Given the description of an element on the screen output the (x, y) to click on. 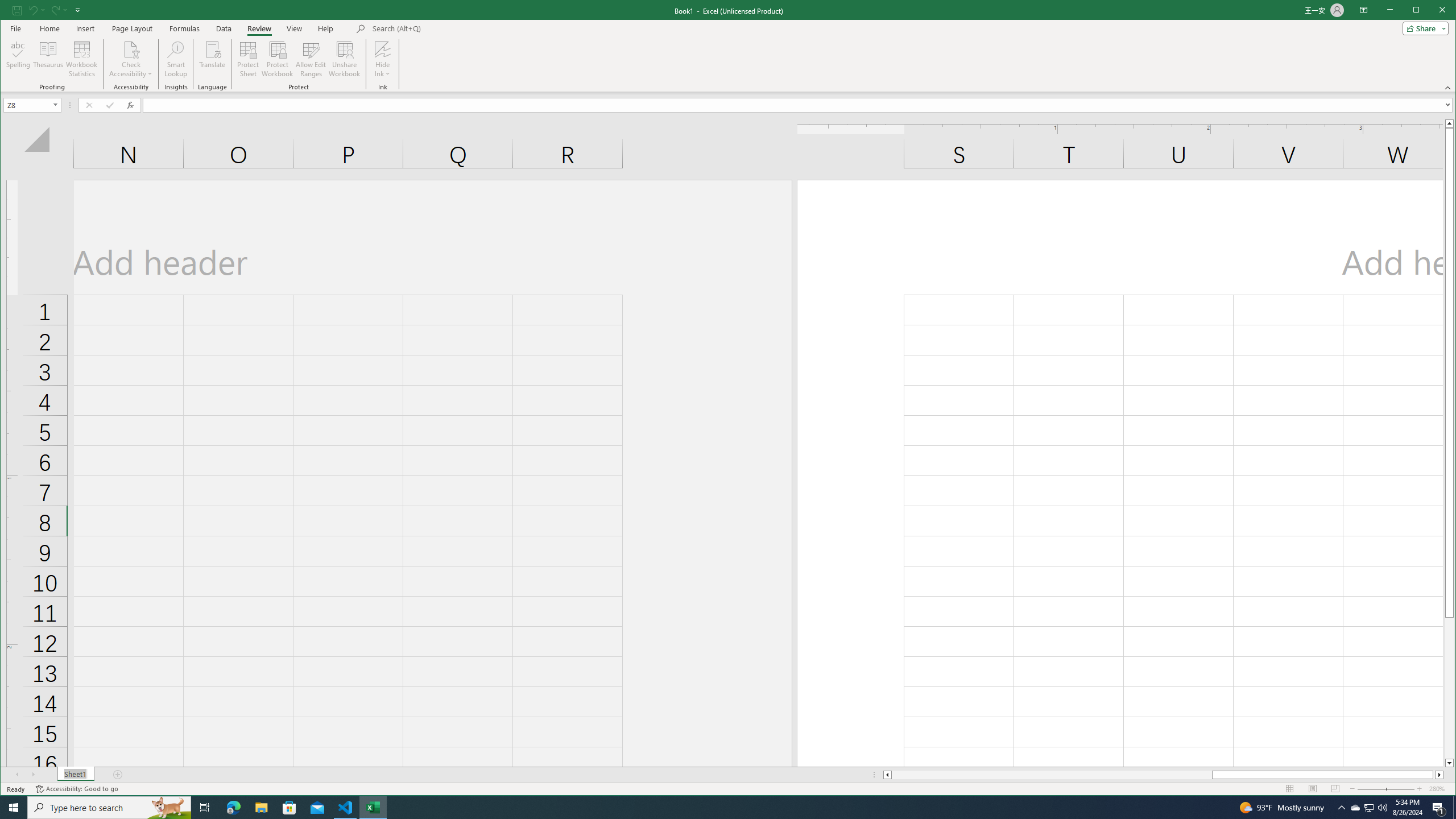
Spelling... (18, 59)
Maximize (1432, 11)
Running applications (717, 807)
Search highlights icon opens search home window (167, 807)
Sheet Tab (75, 774)
Microsoft Store (289, 807)
Start (13, 807)
